Given the description of an element on the screen output the (x, y) to click on. 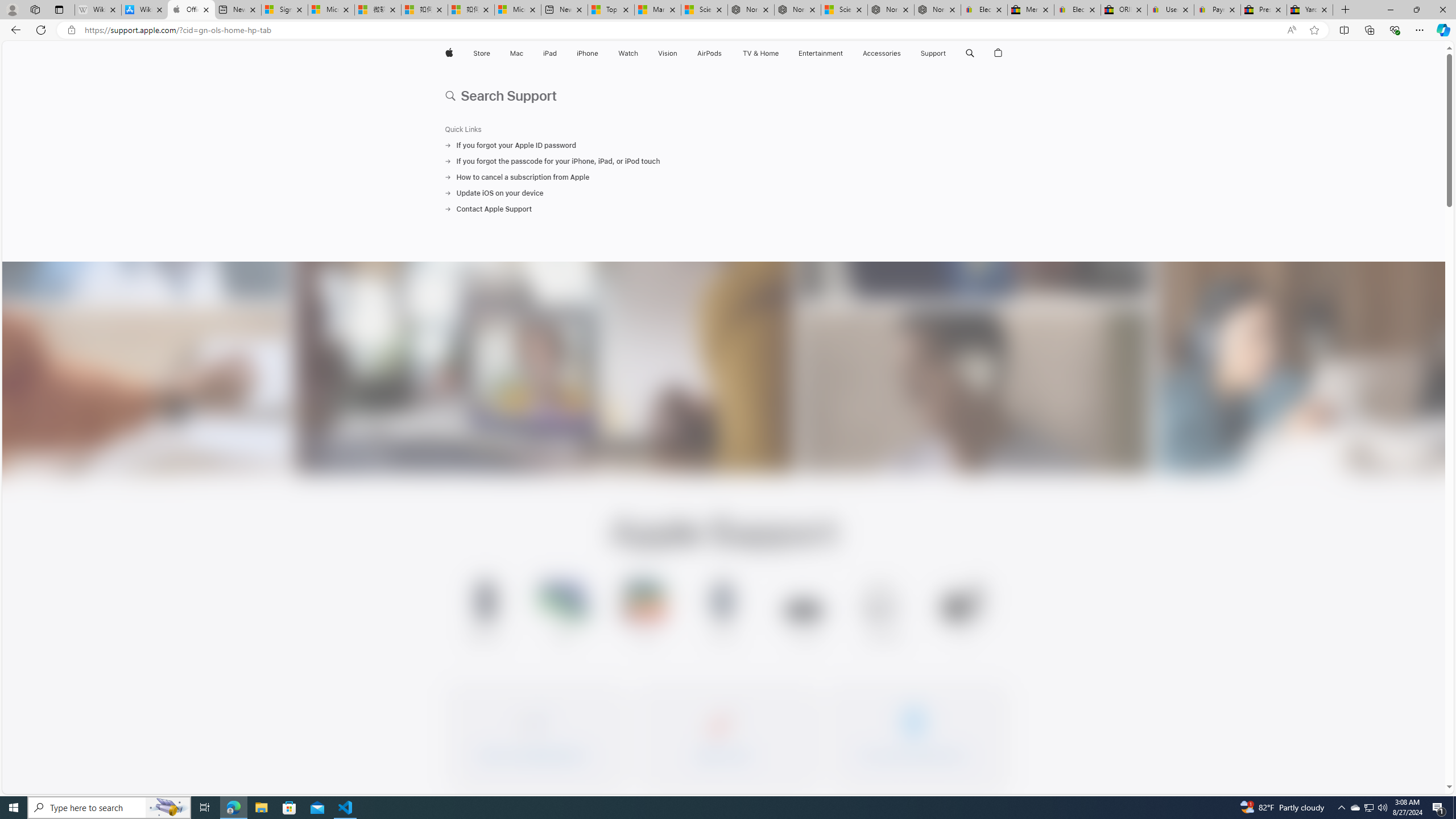
Mac Support (564, 612)
Apple (448, 53)
Official Apple Support (191, 9)
Vision menu (678, 53)
iPad (550, 53)
Shopping Bag (998, 53)
If you forgot your Apple ID password (723, 145)
Contact Apple Support (723, 209)
iPhone Support (484, 612)
